Given the description of an element on the screen output the (x, y) to click on. 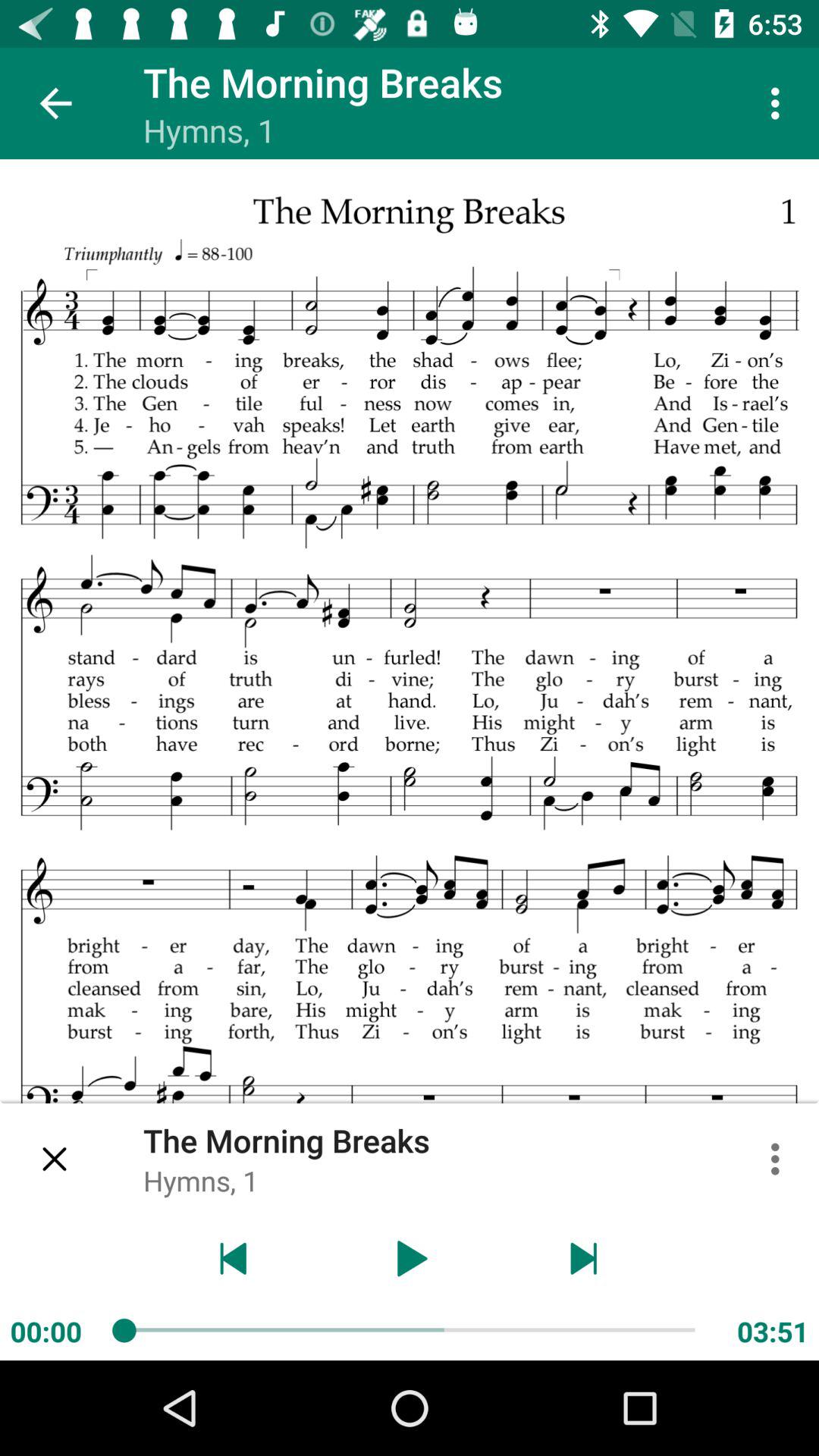
go to end (584, 1258)
